Given the description of an element on the screen output the (x, y) to click on. 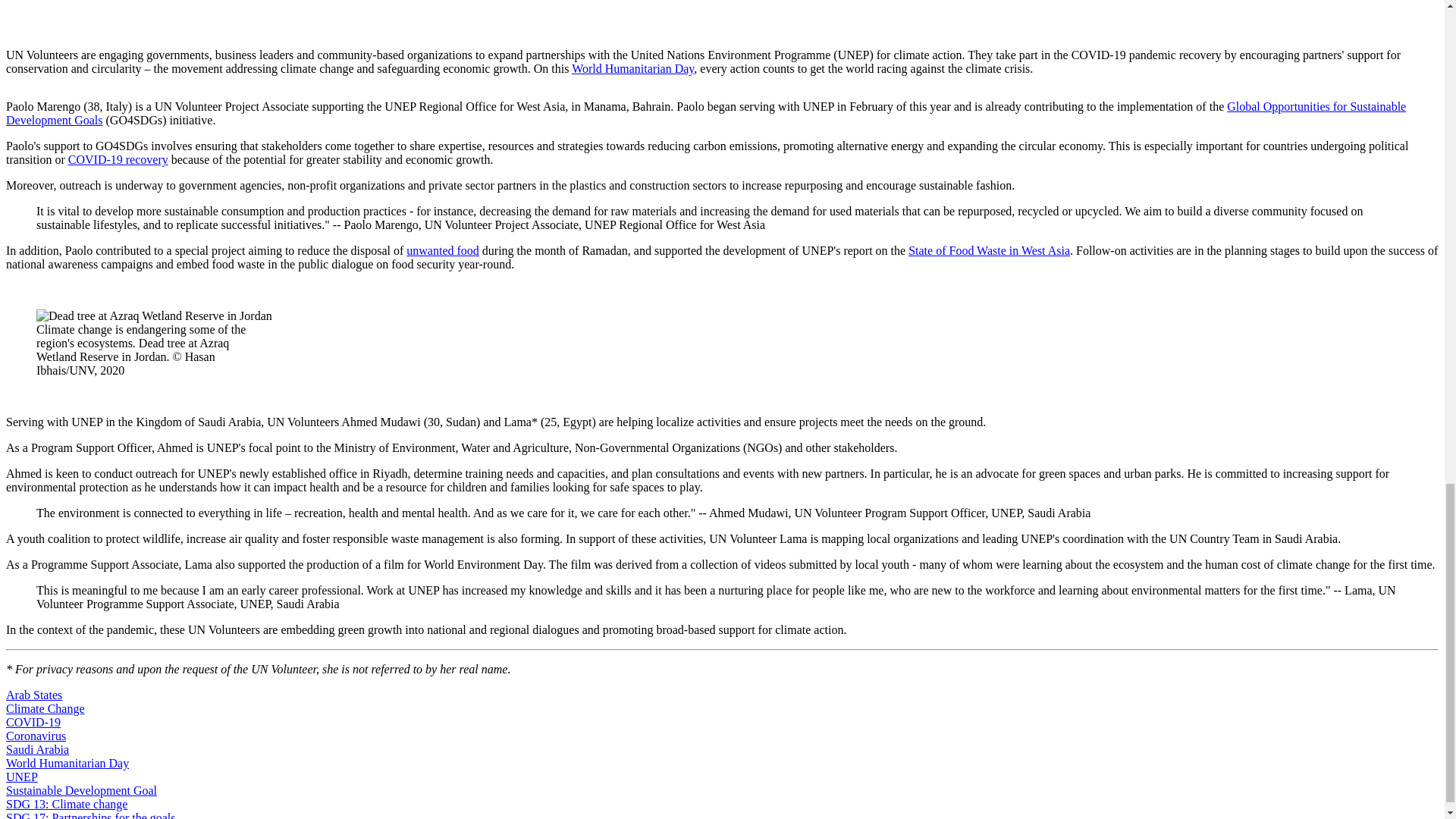
Share to Email (776, 12)
Share to Linkedin (740, 12)
Share to X (703, 12)
Share to Facebook (667, 12)
